Given the description of an element on the screen output the (x, y) to click on. 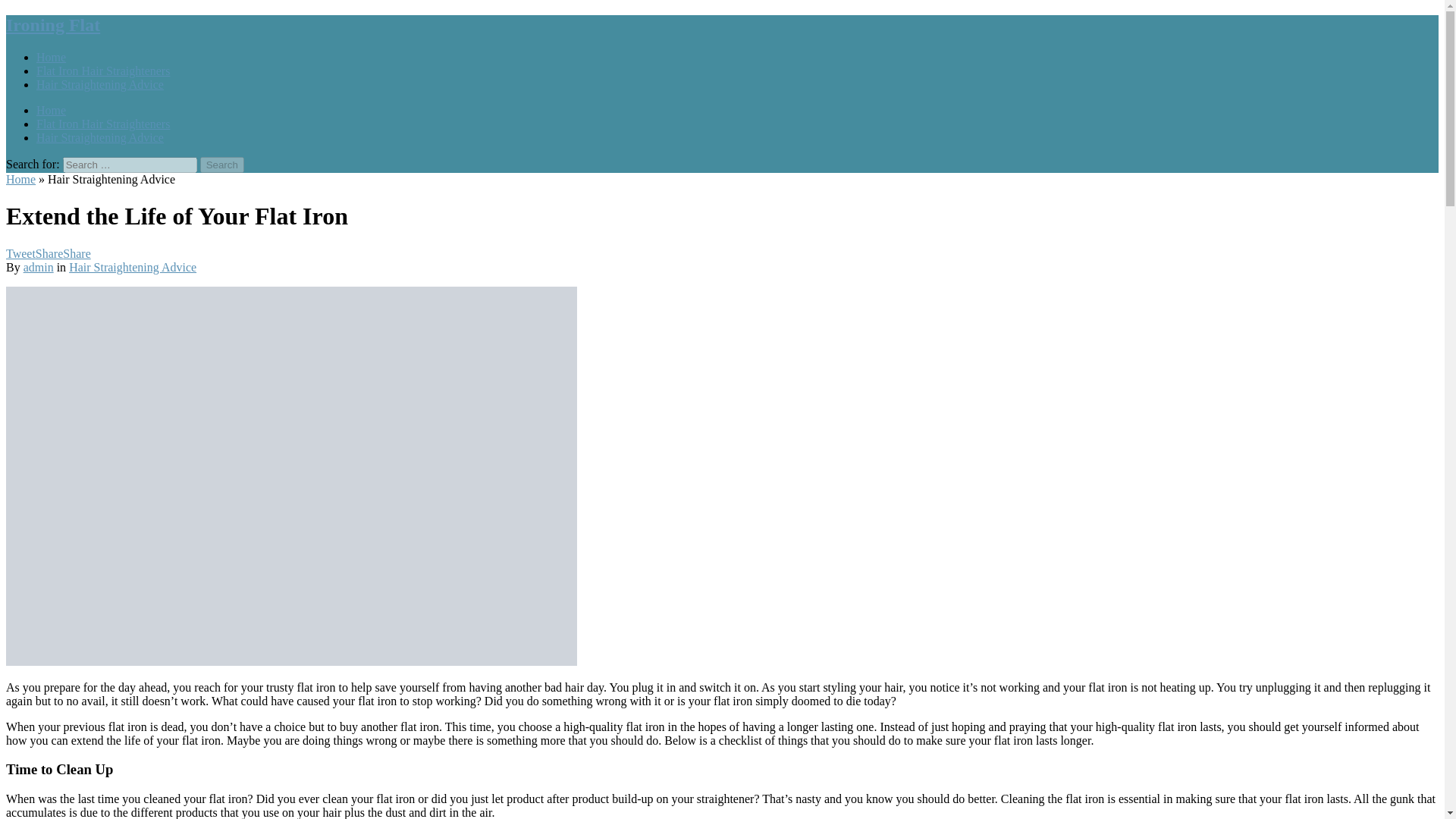
Hair Straightening Advice (99, 83)
Home (19, 178)
Share (48, 253)
Share (76, 253)
Tweet this on Twitter (19, 253)
Home (50, 56)
Search (222, 164)
Search (222, 164)
Posts by admin (38, 267)
Hair Straightening Advice (132, 267)
admin (38, 267)
Hair Straightening Advice (99, 137)
Flat Iron Hair Straighteners (103, 70)
Tweet (19, 253)
Flat Iron Hair Straighteners (103, 123)
